Given the description of an element on the screen output the (x, y) to click on. 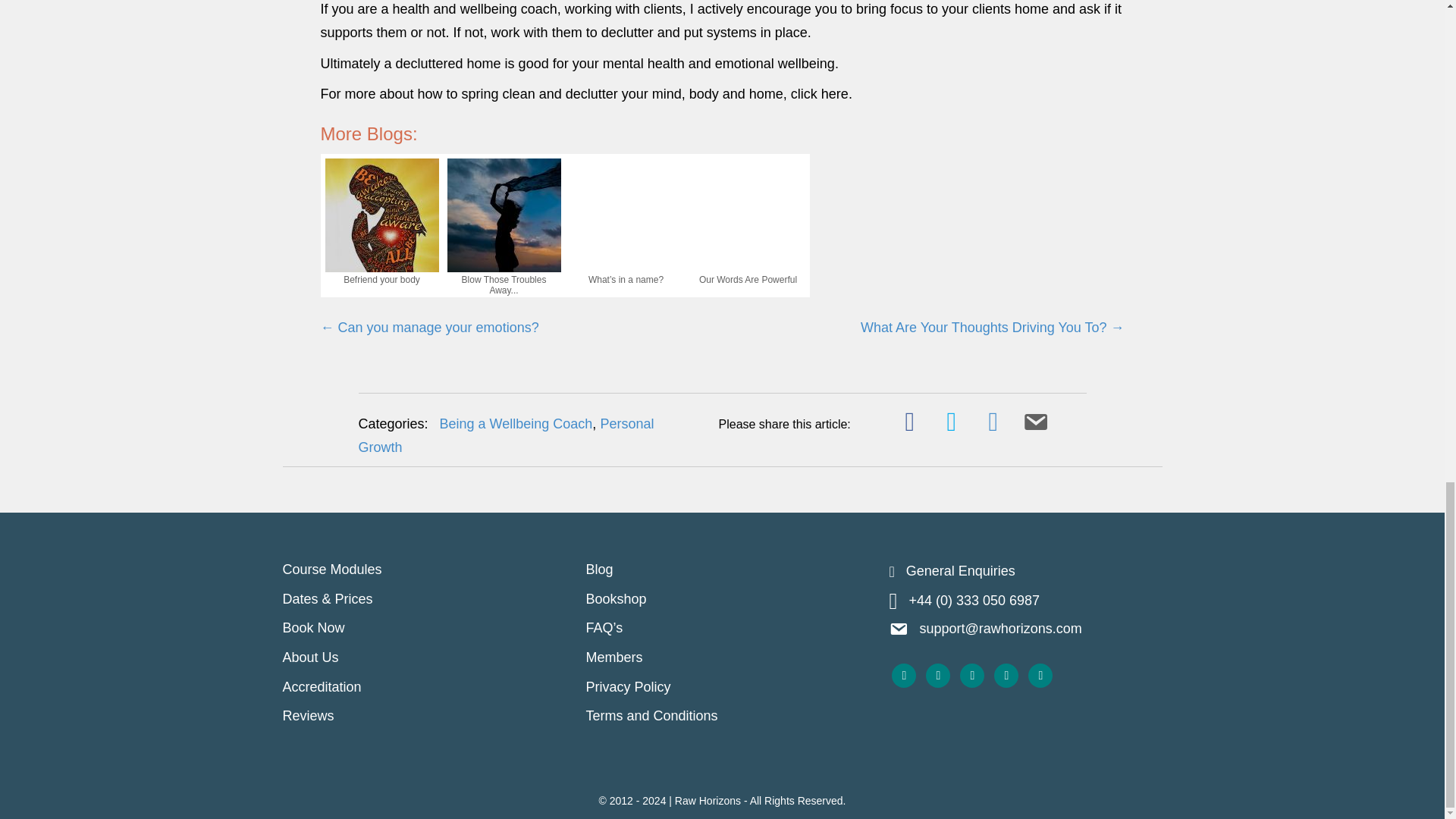
Facebook (903, 674)
Instagram (1039, 674)
Personal Growth (505, 435)
Linkedin (971, 674)
Being a Wellbeing Coach (515, 423)
Twitter (938, 674)
Youtube (1005, 674)
